Given the description of an element on the screen output the (x, y) to click on. 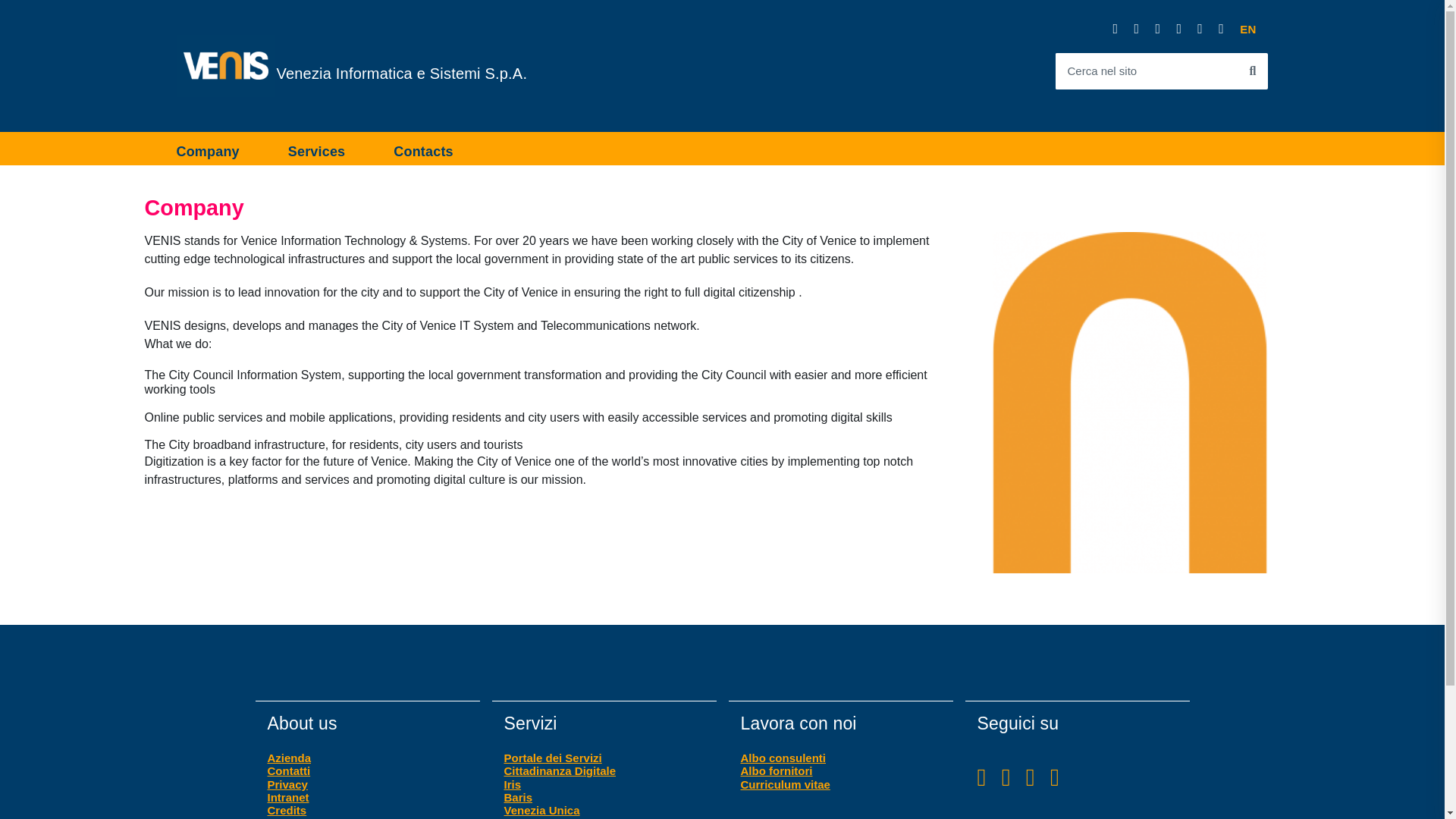
Venezia Informatica e Sistemi S.p.A. (401, 73)
Contacts (423, 148)
Company (219, 148)
Services (1247, 29)
